Given the description of an element on the screen output the (x, y) to click on. 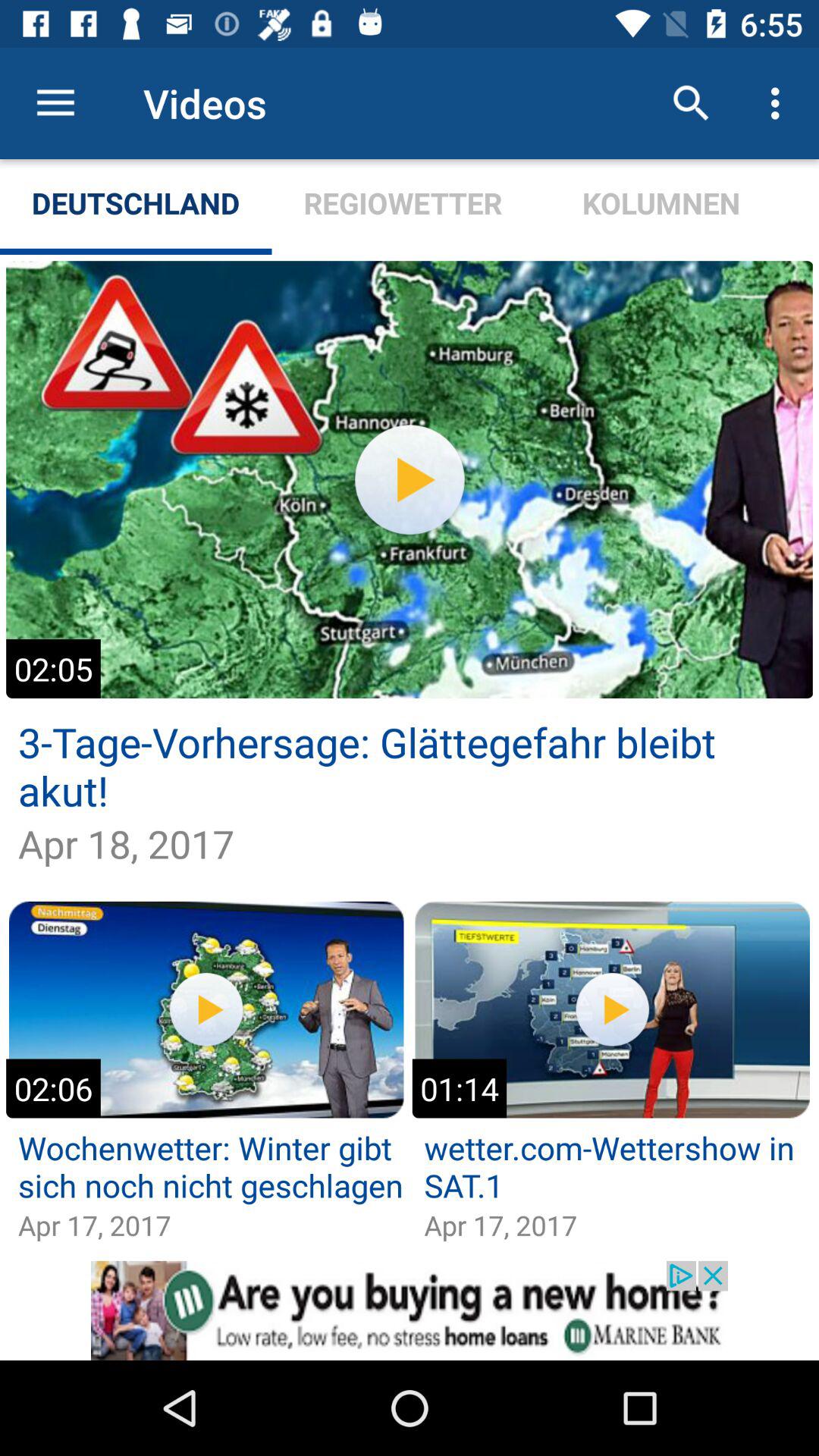
opens a advertisement (409, 1310)
